Given the description of an element on the screen output the (x, y) to click on. 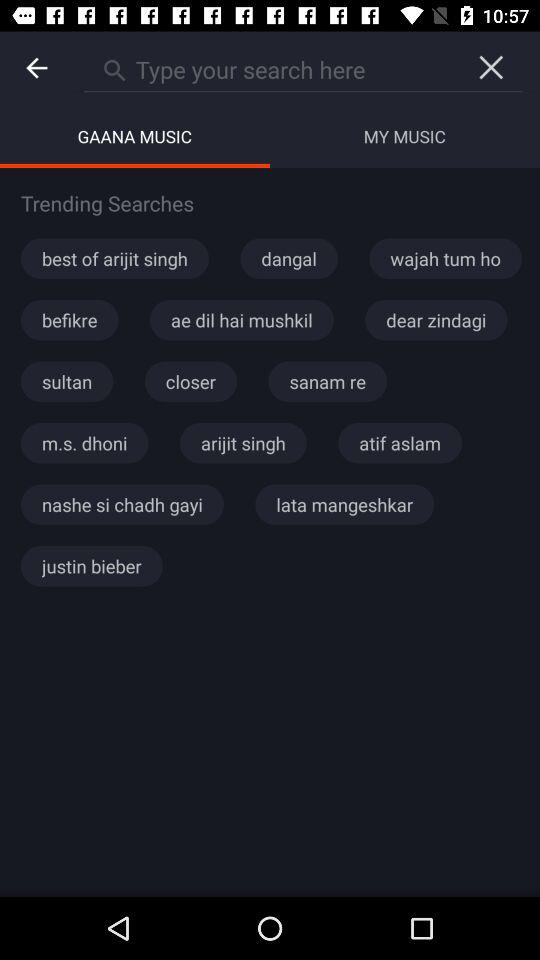
click the item to the right of the ae dil hai icon (436, 320)
